Given the description of an element on the screen output the (x, y) to click on. 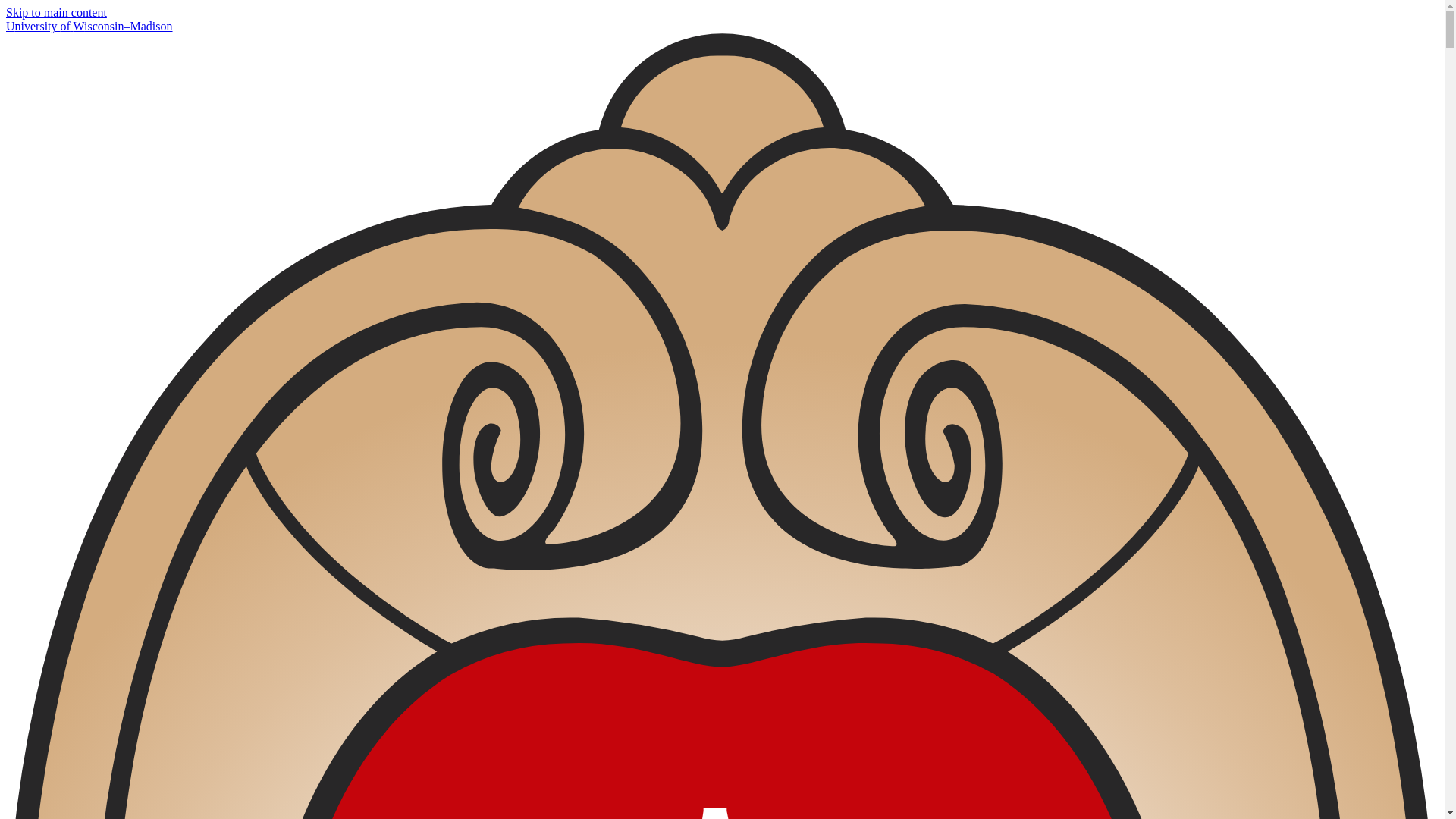
Skip to main content (55, 11)
